Given the description of an element on the screen output the (x, y) to click on. 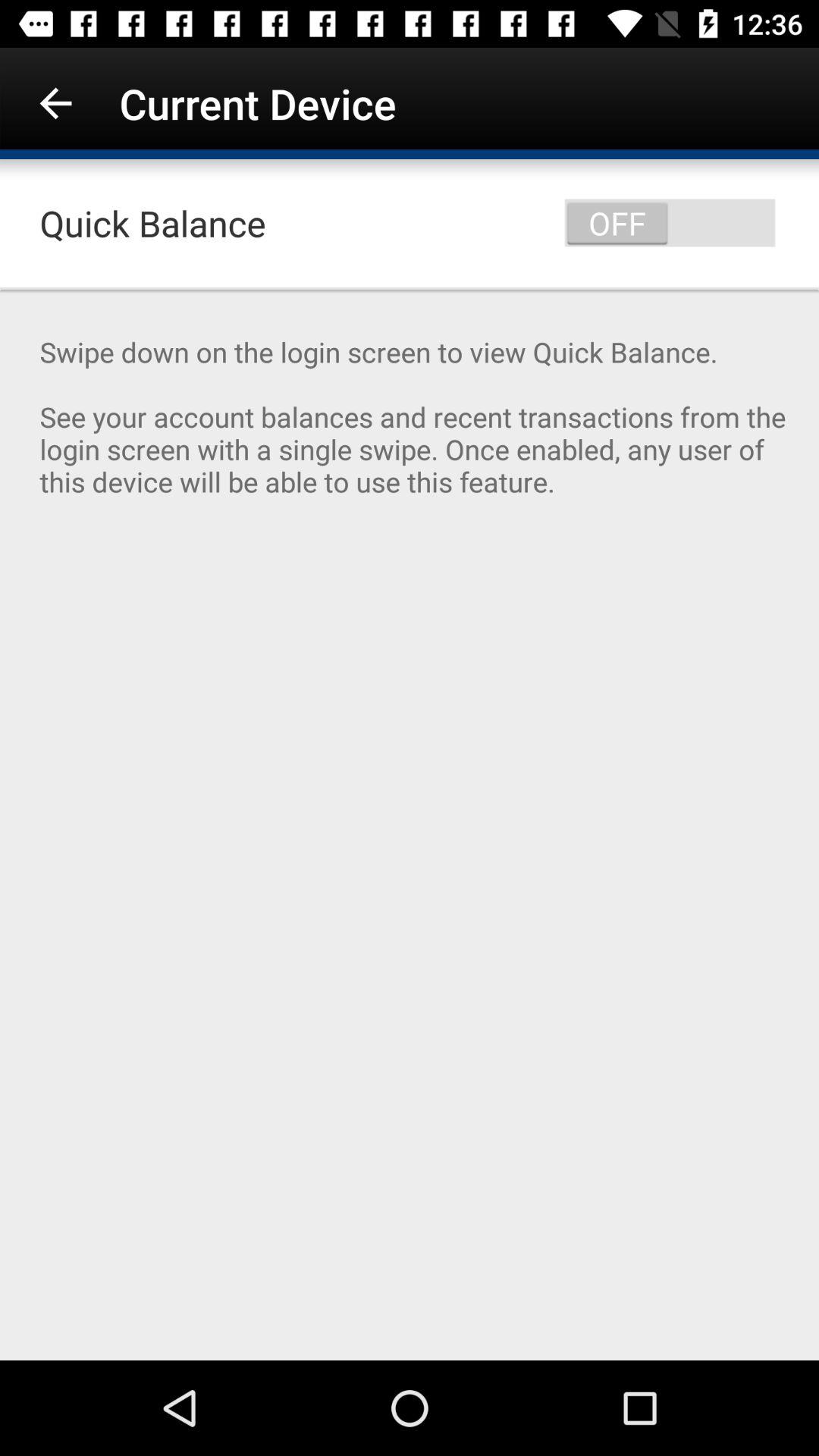
launch the item above the quick balance item (55, 103)
